Given the description of an element on the screen output the (x, y) to click on. 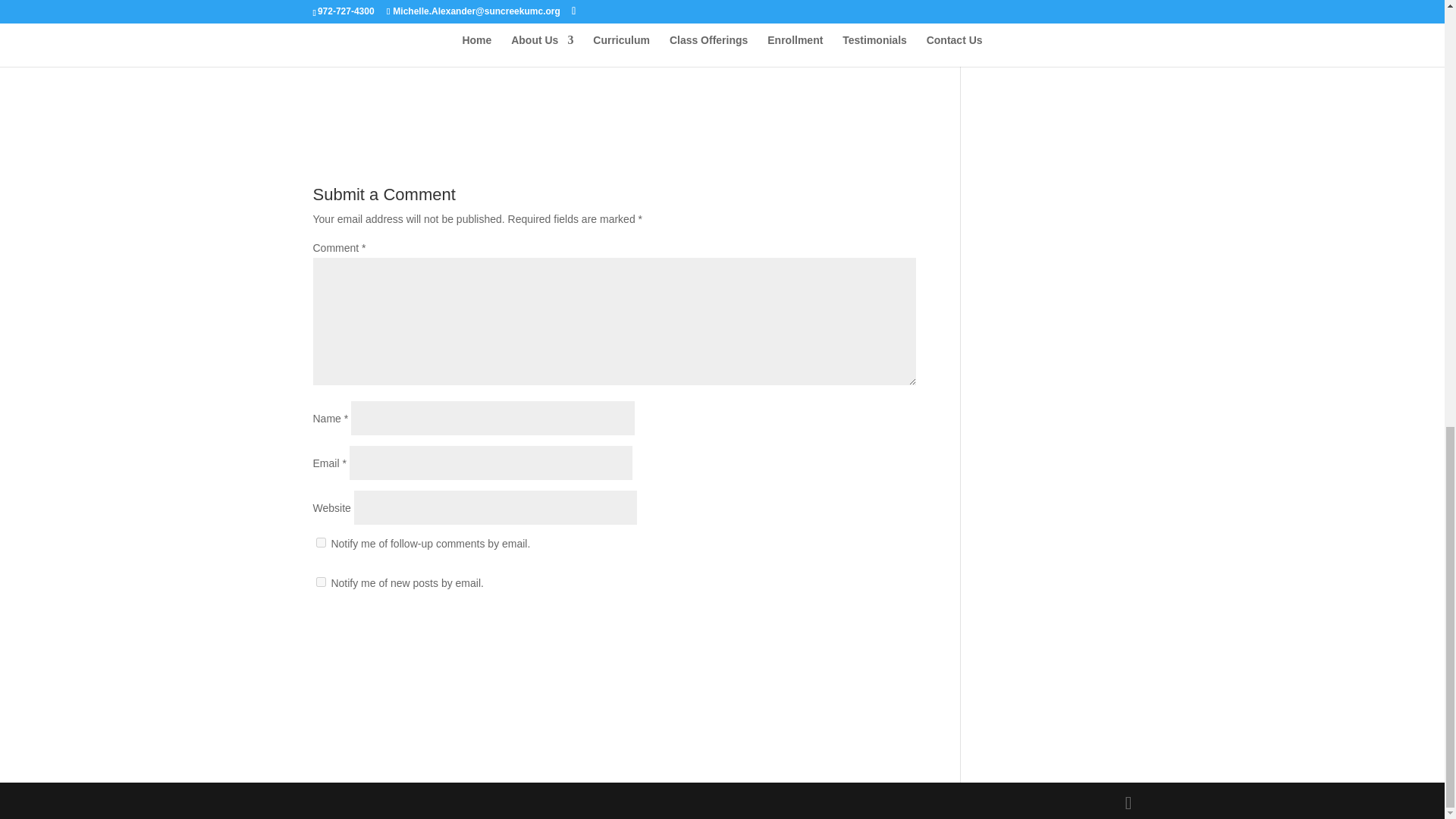
Submit Comment (840, 632)
subscribe (319, 542)
subscribe (319, 582)
Submit Comment (840, 632)
